Given the description of an element on the screen output the (x, y) to click on. 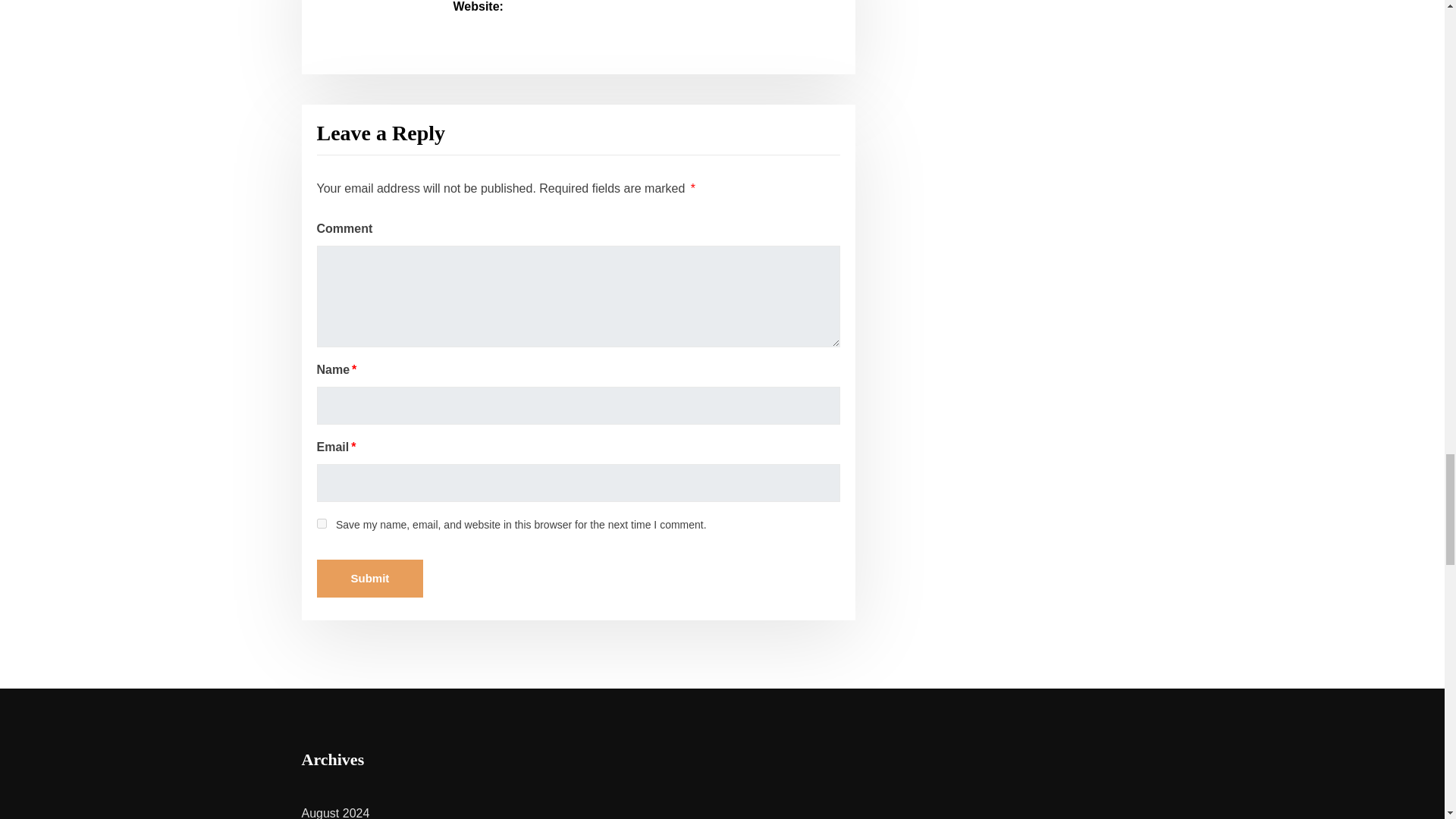
yes (321, 523)
Submit (370, 578)
August 2024 (335, 812)
Submit (370, 578)
